Given the description of an element on the screen output the (x, y) to click on. 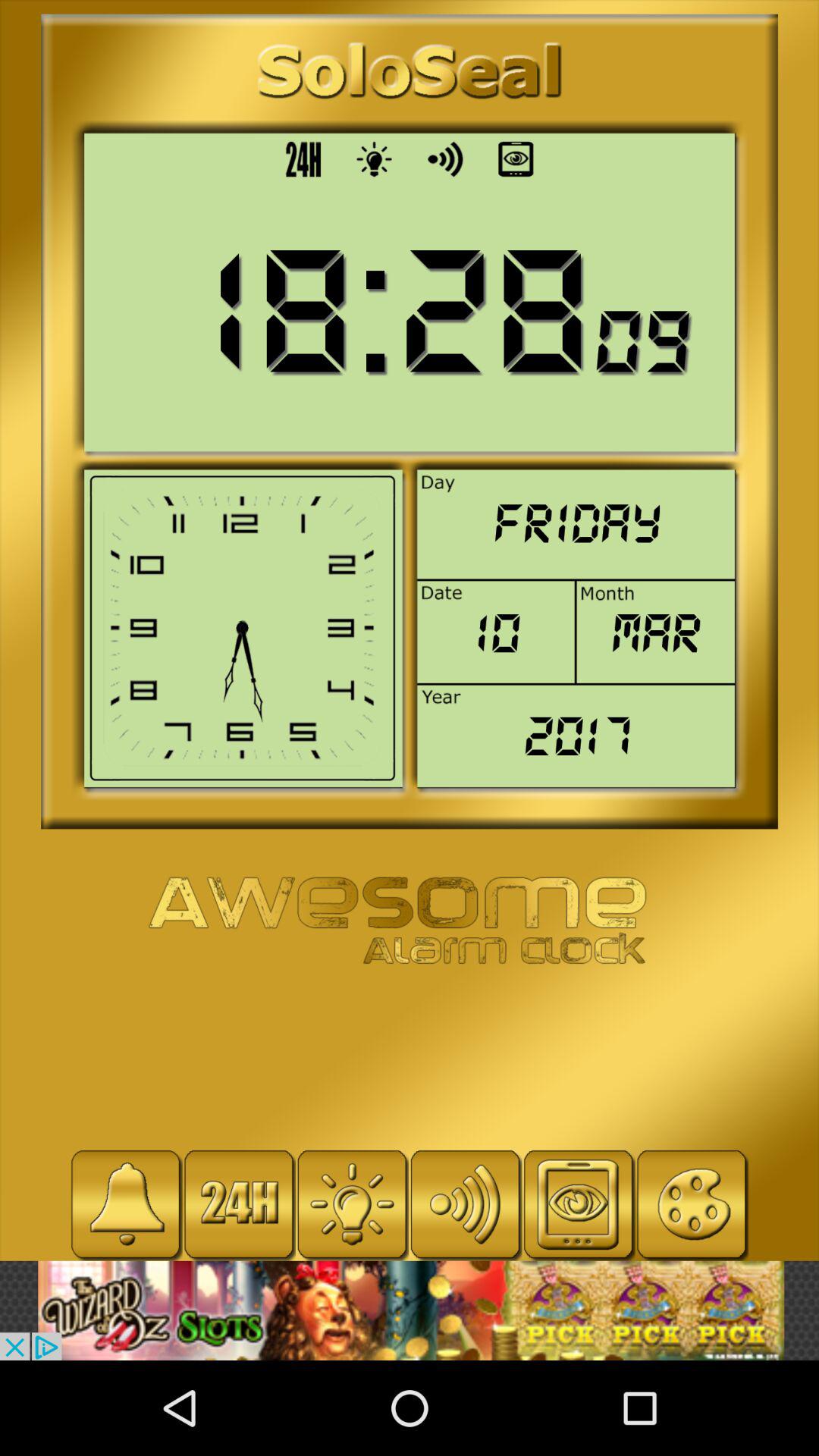
set alarm (125, 1203)
